Given the description of an element on the screen output the (x, y) to click on. 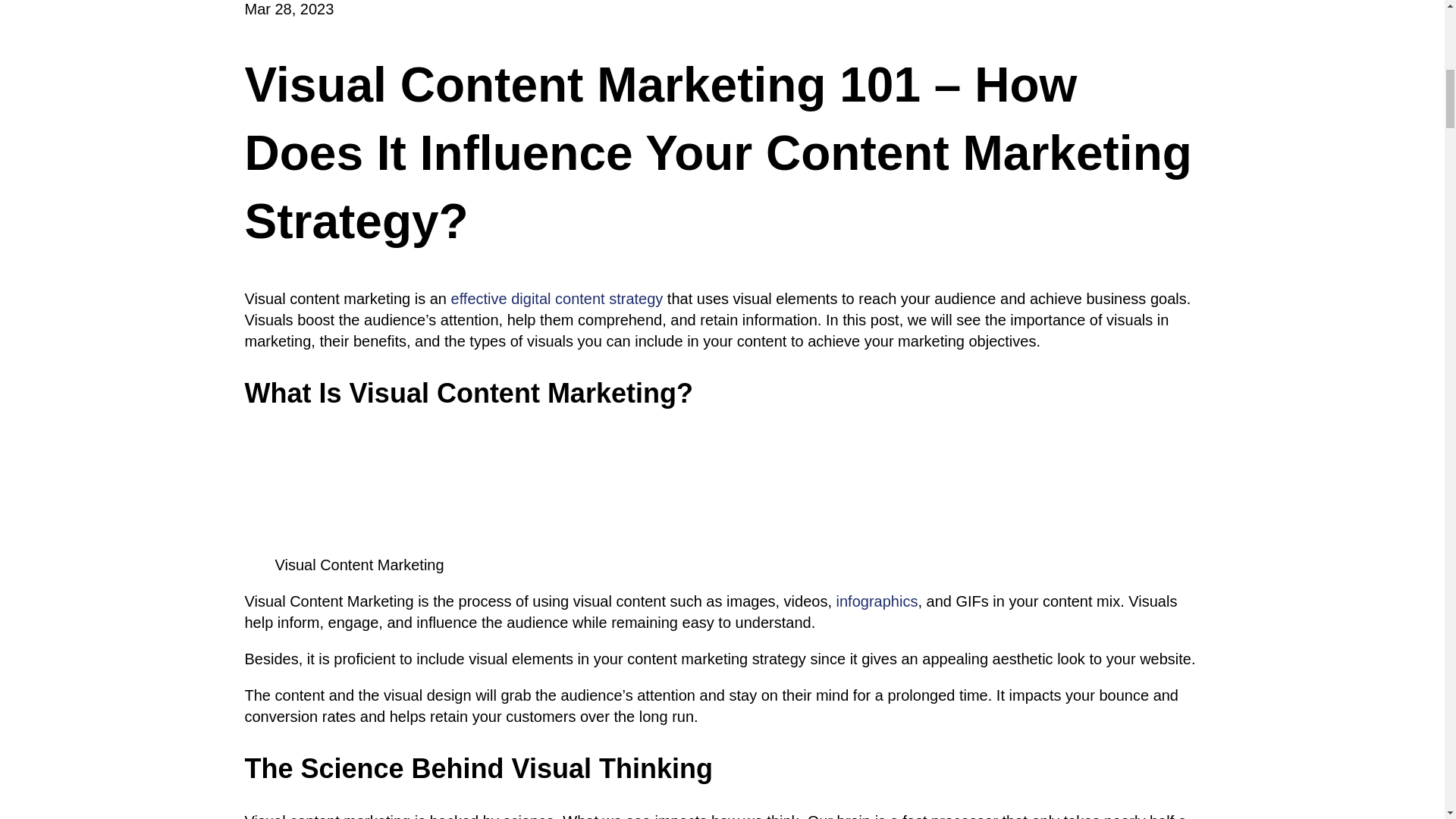
infographics (876, 600)
Scroll back to top (1406, 720)
effective digital content strategy (557, 298)
